Given the description of an element on the screen output the (x, y) to click on. 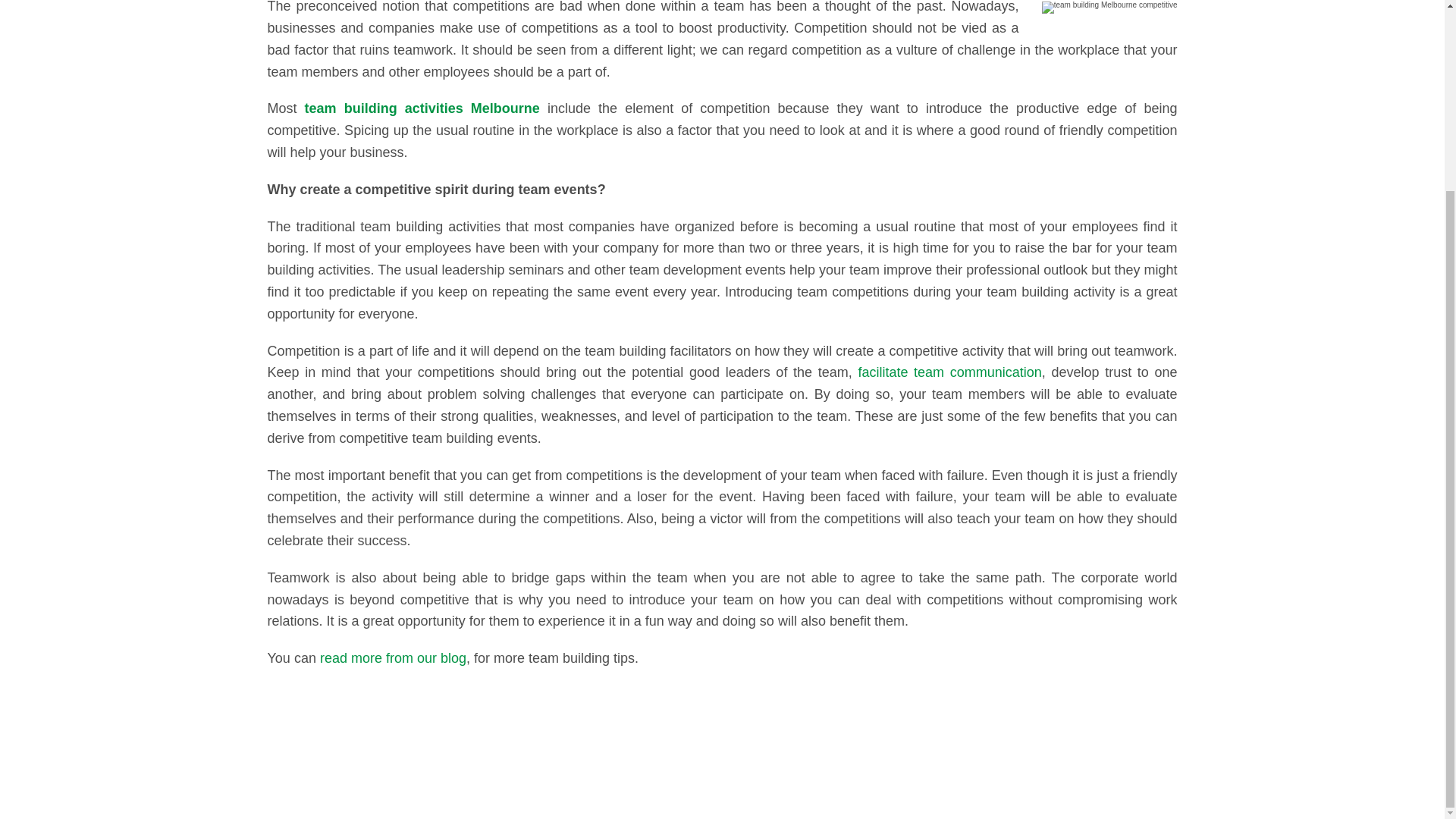
facilitate team communication (949, 372)
team building activities Melbourne  (425, 108)
read more from our blog (392, 657)
